Given the description of an element on the screen output the (x, y) to click on. 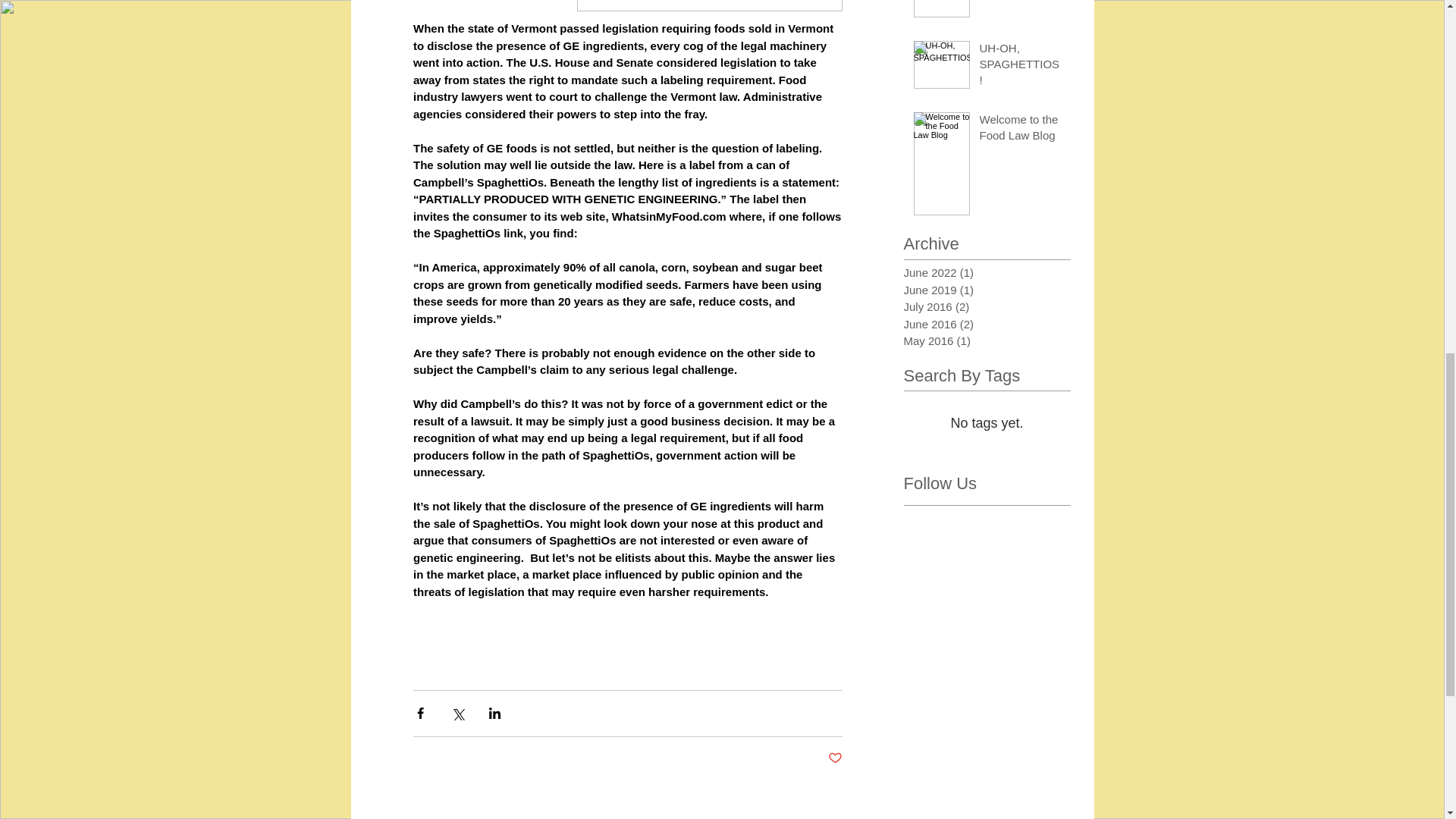
UH-OH, SPAGHETTIOS! (1020, 67)
Welcome to the Food Law Blog (1020, 130)
Post not marked as liked (835, 758)
